Given the description of an element on the screen output the (x, y) to click on. 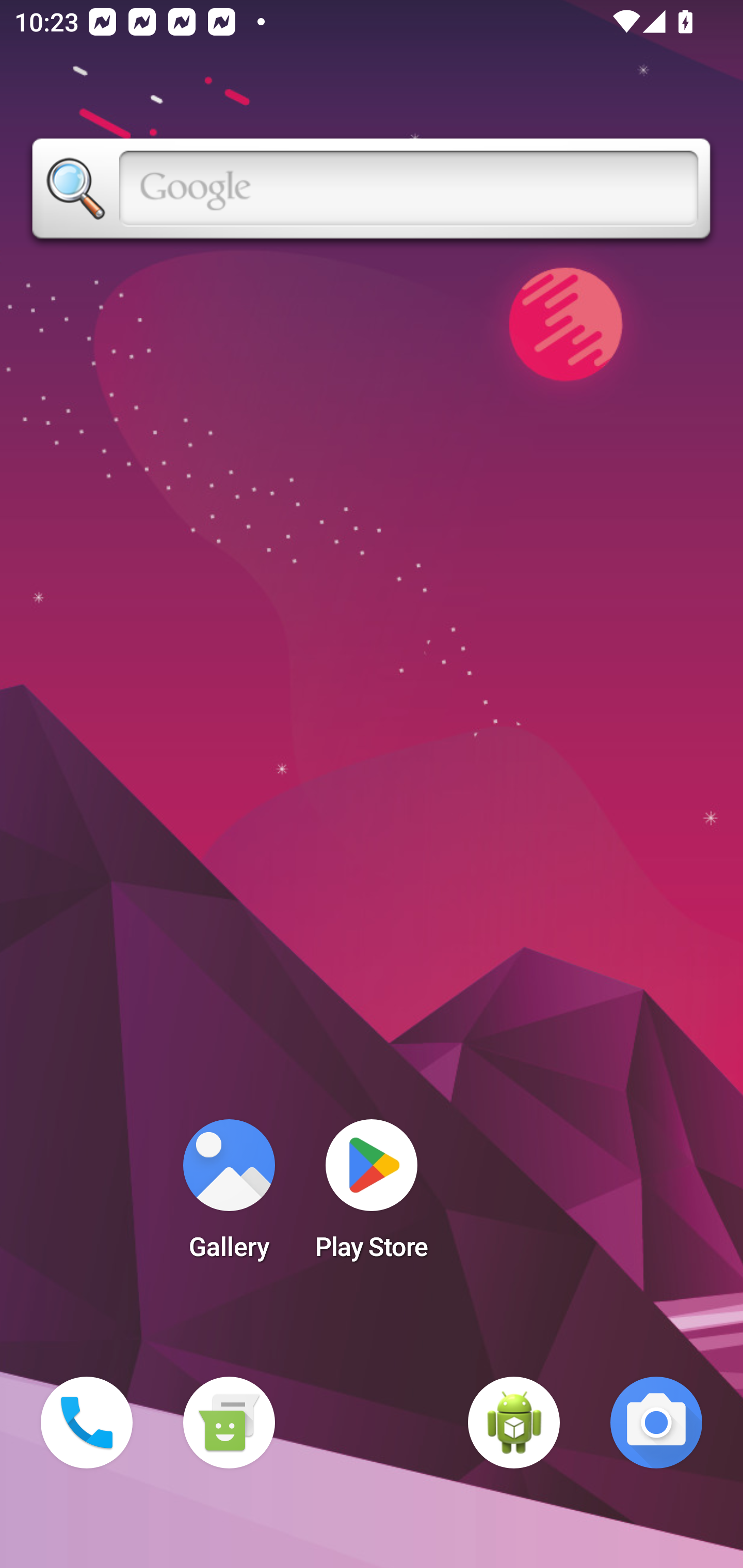
Gallery (228, 1195)
Play Store (371, 1195)
Phone (86, 1422)
Messaging (228, 1422)
WebView Browser Tester (513, 1422)
Camera (656, 1422)
